Given the description of an element on the screen output the (x, y) to click on. 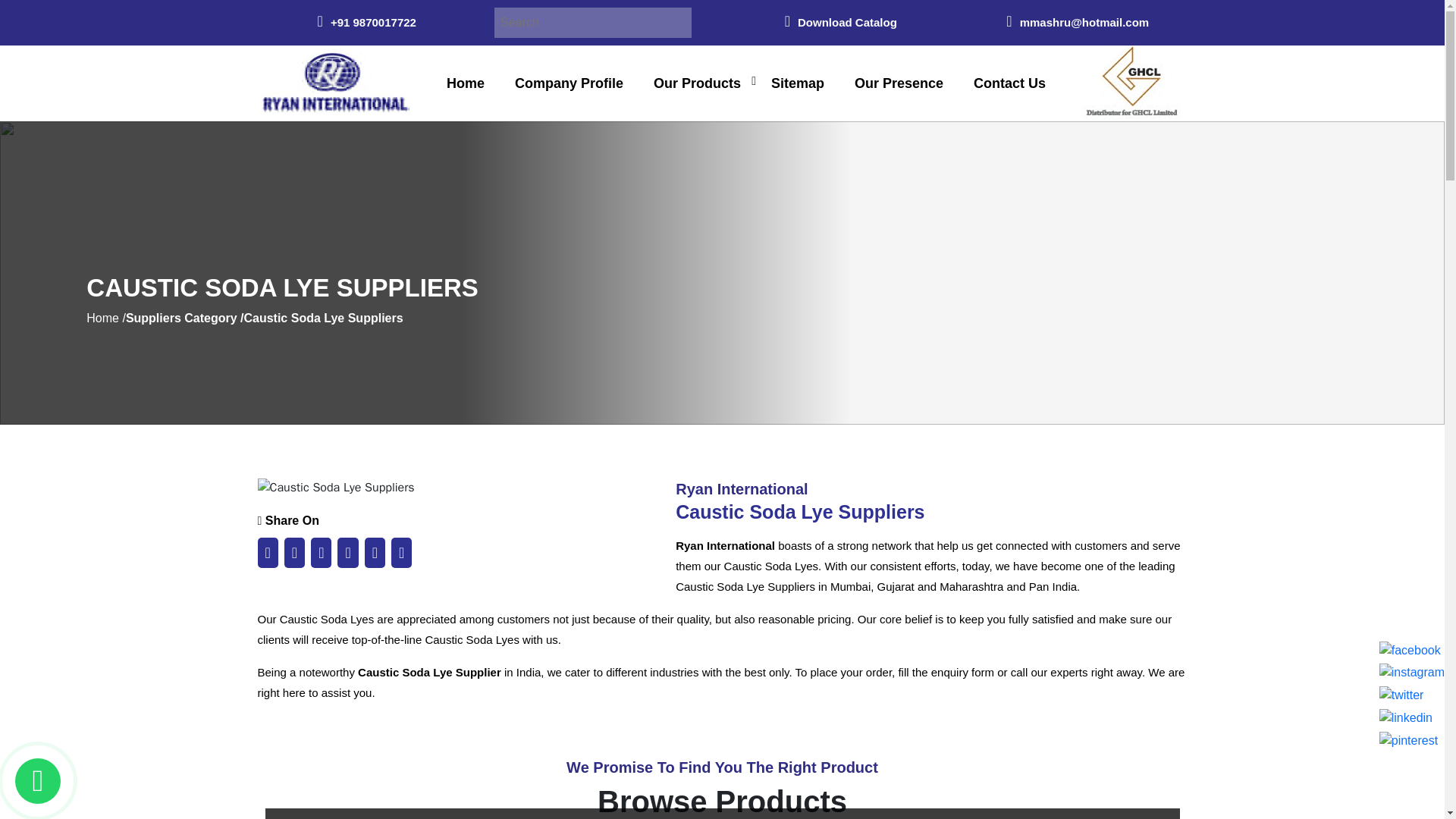
Download Catalog (840, 21)
Our Products (697, 83)
Home (465, 83)
Download Catalog (840, 21)
Home (465, 83)
Company Profile (569, 83)
Ryan International (333, 82)
Ryan International (333, 82)
Our Products (697, 83)
Company Profile (569, 83)
